Given the description of an element on the screen output the (x, y) to click on. 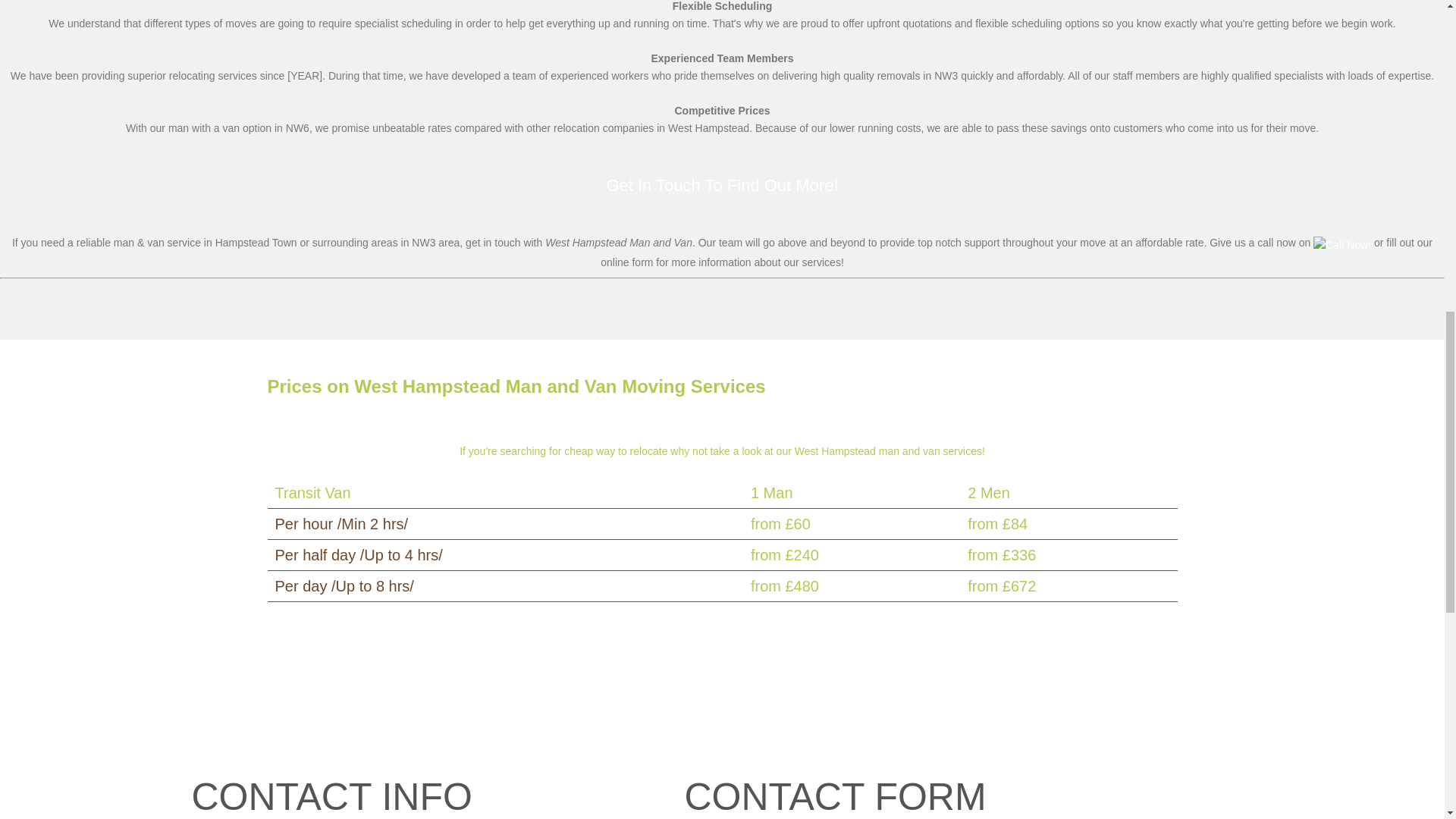
Call Now! (1342, 242)
